Given the description of an element on the screen output the (x, y) to click on. 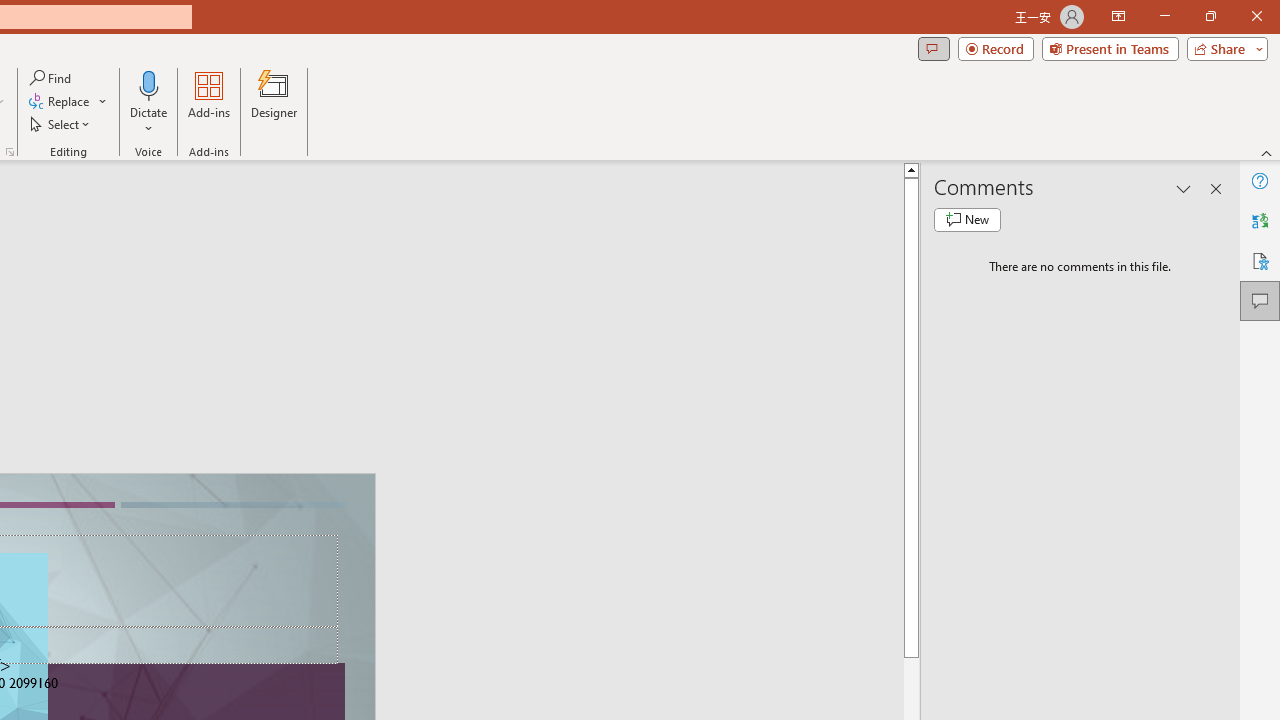
Dictate (149, 84)
Designer (274, 102)
Accessibility (1260, 260)
